Given the description of an element on the screen output the (x, y) to click on. 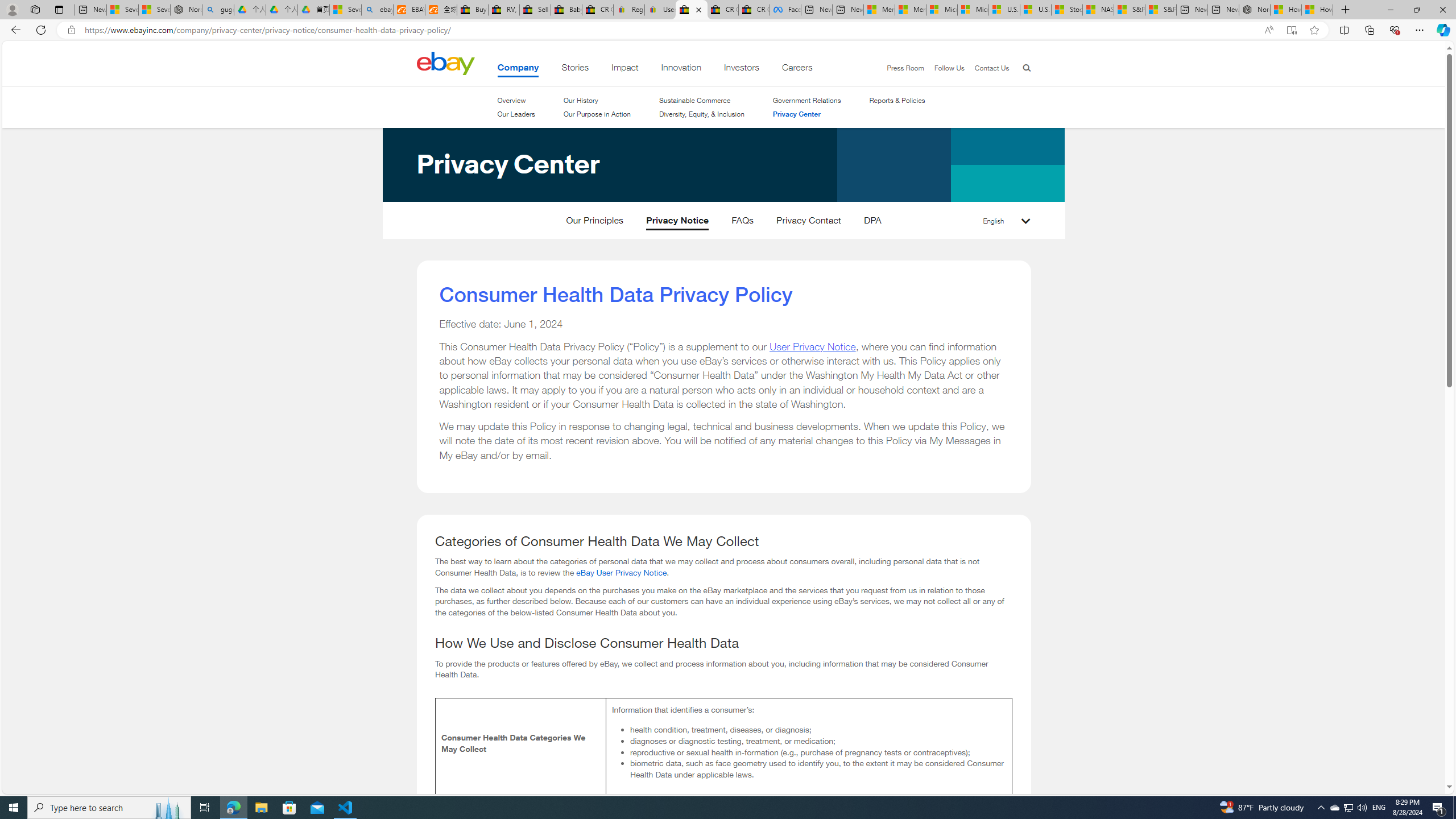
Our Purpose in Action (596, 113)
Diversity, Equity, & Inclusion (701, 113)
diagnoses or diagnostic testing, treatment, or medication; (817, 740)
Our History (596, 100)
Baby Keepsakes & Announcements for sale | eBay (566, 9)
Home (445, 63)
Impact (625, 69)
eBay User Privacy Notice (621, 571)
Careers (796, 69)
